Given the description of an element on the screen output the (x, y) to click on. 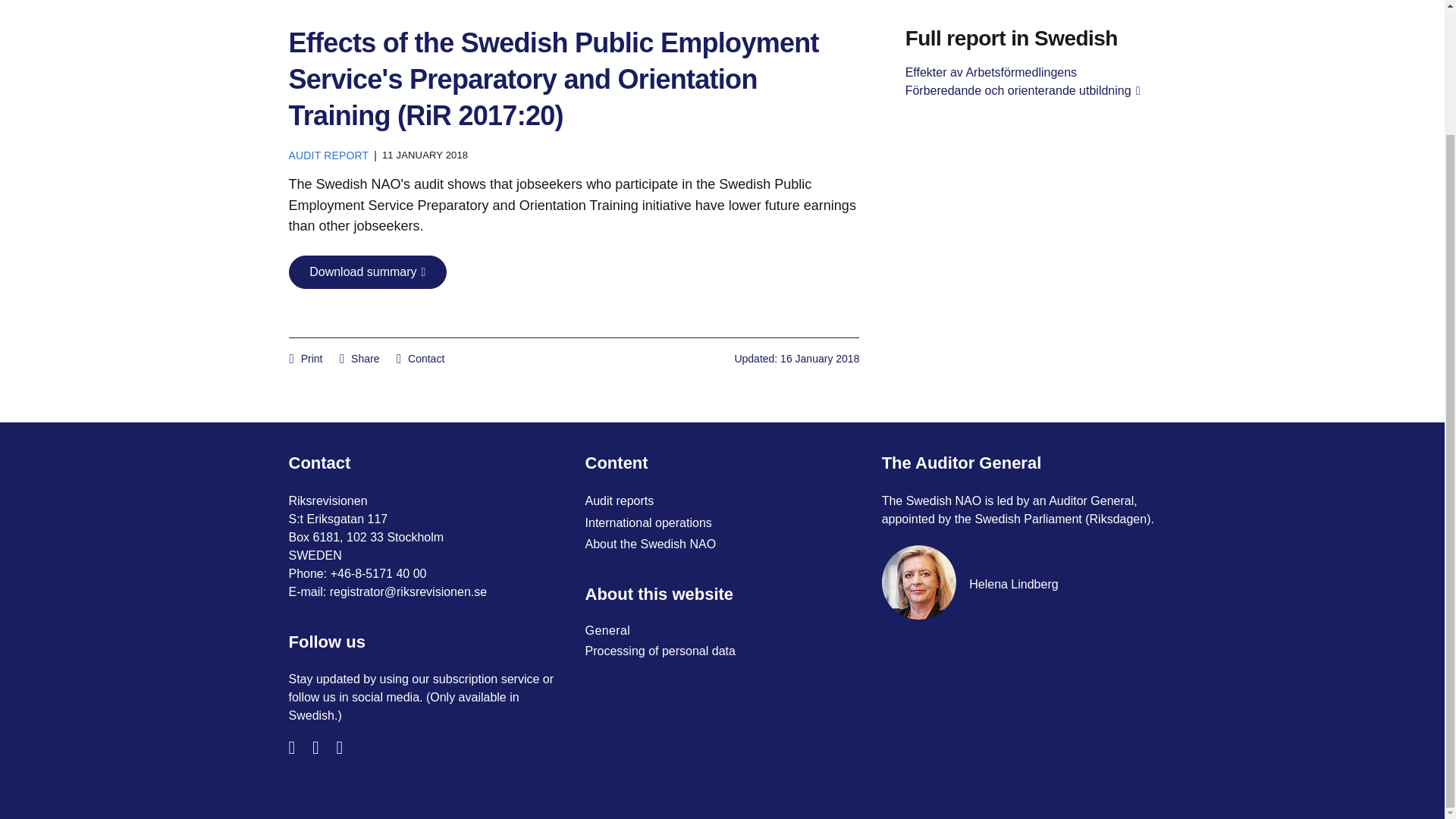
Print (305, 358)
Contact (420, 358)
Share (359, 358)
